Given the description of an element on the screen output the (x, y) to click on. 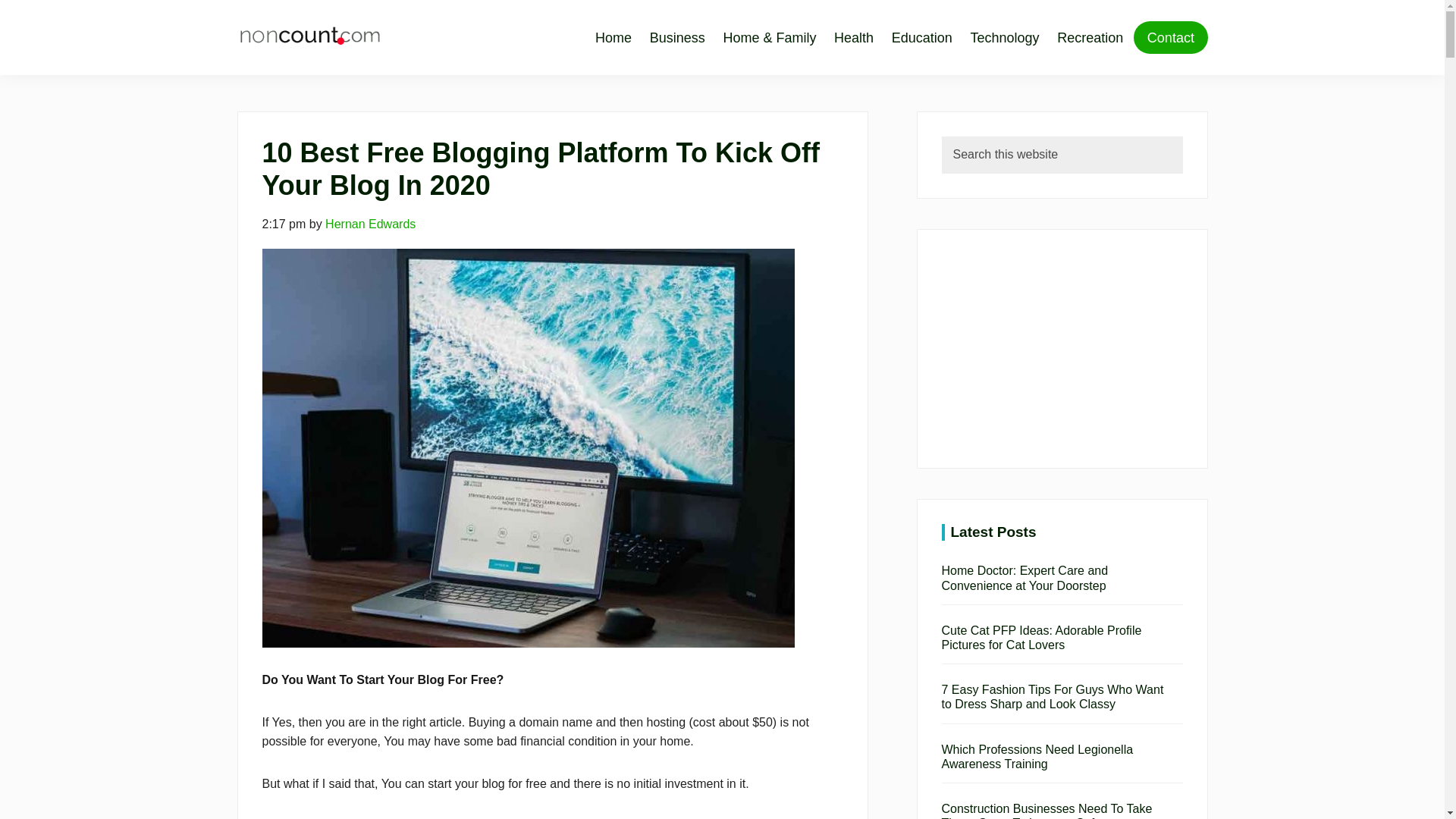
Advertisement (1062, 348)
Education (921, 37)
Hernan Edwards (369, 223)
Home (617, 37)
Technology (1004, 37)
Search (1205, 151)
Recreation (1090, 37)
Business (676, 37)
Contact (1170, 37)
Search (1205, 151)
Health (853, 37)
